Given the description of an element on the screen output the (x, y) to click on. 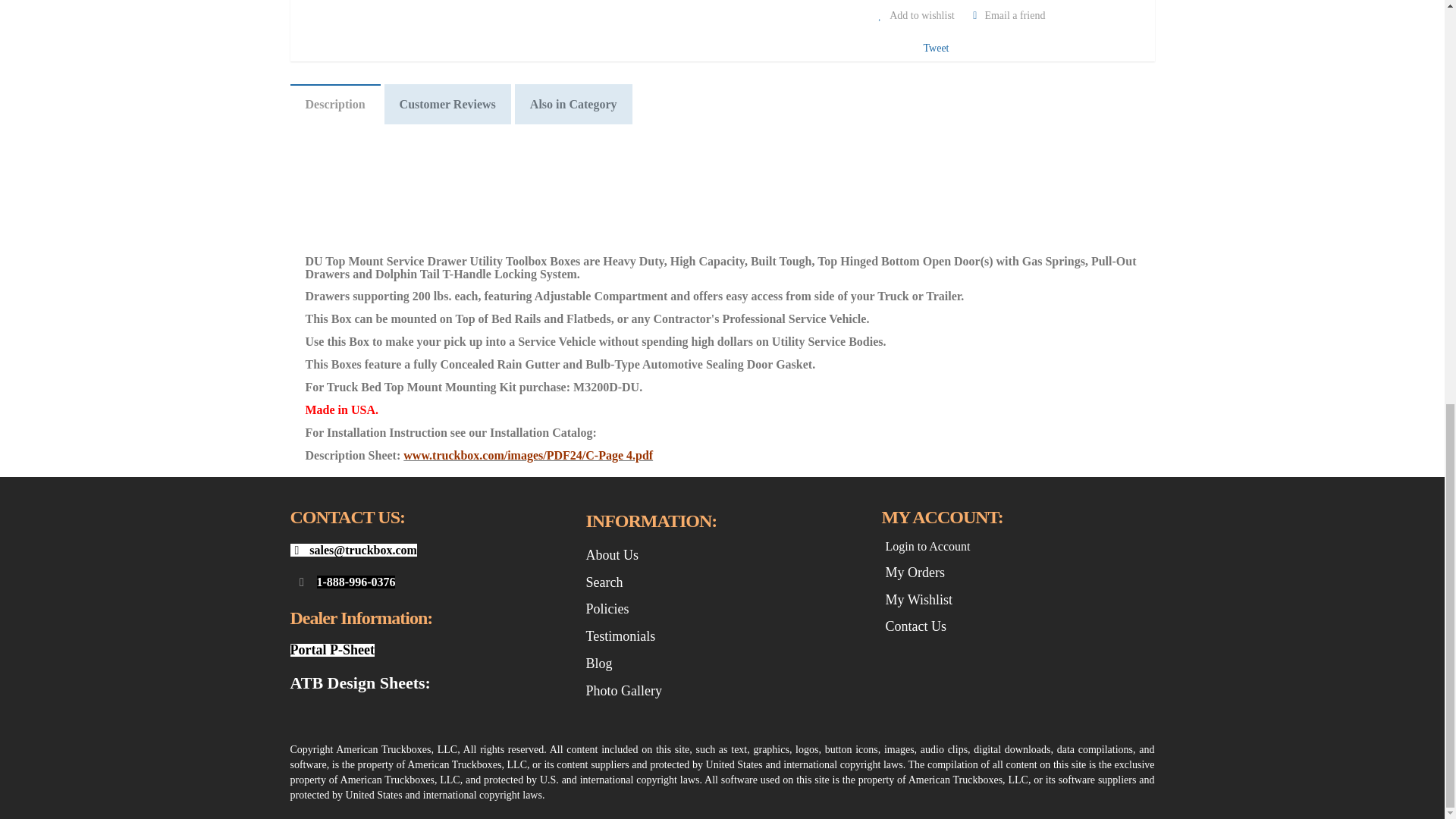
Email a friend (1006, 15)
Tweet (936, 48)
Description (334, 104)
Add to wishlist (913, 15)
Customer Reviews (447, 104)
Also in Category (573, 104)
